Given the description of an element on the screen output the (x, y) to click on. 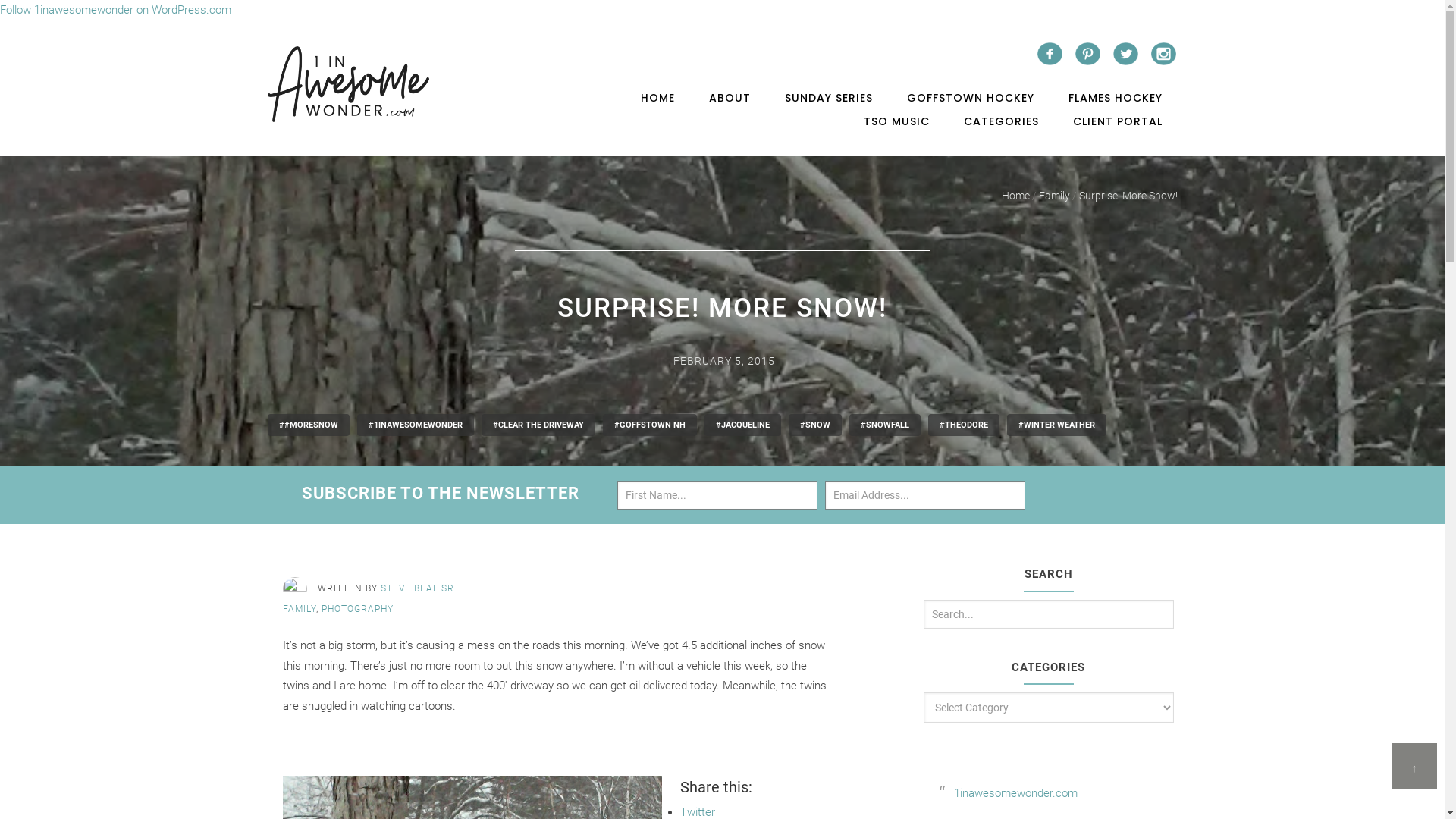
ABOUT Element type: text (729, 97)
CLIENT PORTAL Element type: text (1116, 121)
#SNOWFALL Element type: text (884, 425)
#JACQUELINE Element type: text (741, 425)
#1INAWESOMEWONDER Element type: text (414, 425)
SUNDAY SERIES Element type: text (827, 97)
GOFFSTOWN HOCKEY Element type: text (970, 97)
TSO MUSIC Element type: text (895, 121)
Follow 1inawesomewonder on WordPress.com Element type: text (115, 9)
Family Element type: text (1054, 195)
#CLEAR THE DRIVEWAY Element type: text (537, 425)
#THEODORE Element type: text (963, 425)
PHOTOGRAPHY Element type: text (357, 608)
STEVE BEAL SR. Element type: text (418, 588)
Subscribe Element type: text (1121, 473)
FLAMES HOCKEY Element type: text (1114, 97)
CATEGORIES Element type: text (1000, 121)
HOME Element type: text (656, 97)
Home Element type: text (1015, 195)
##MORESNOW Element type: text (307, 425)
1inawesomewonder.com Element type: text (1015, 793)
FAMILY Element type: text (298, 608)
#WINTER WEATHER Element type: text (1056, 425)
#GOFFSTOWN NH Element type: text (649, 425)
#SNOW Element type: text (814, 425)
1 IN AWESOME WONDER Element type: text (347, 84)
